Given the description of an element on the screen output the (x, y) to click on. 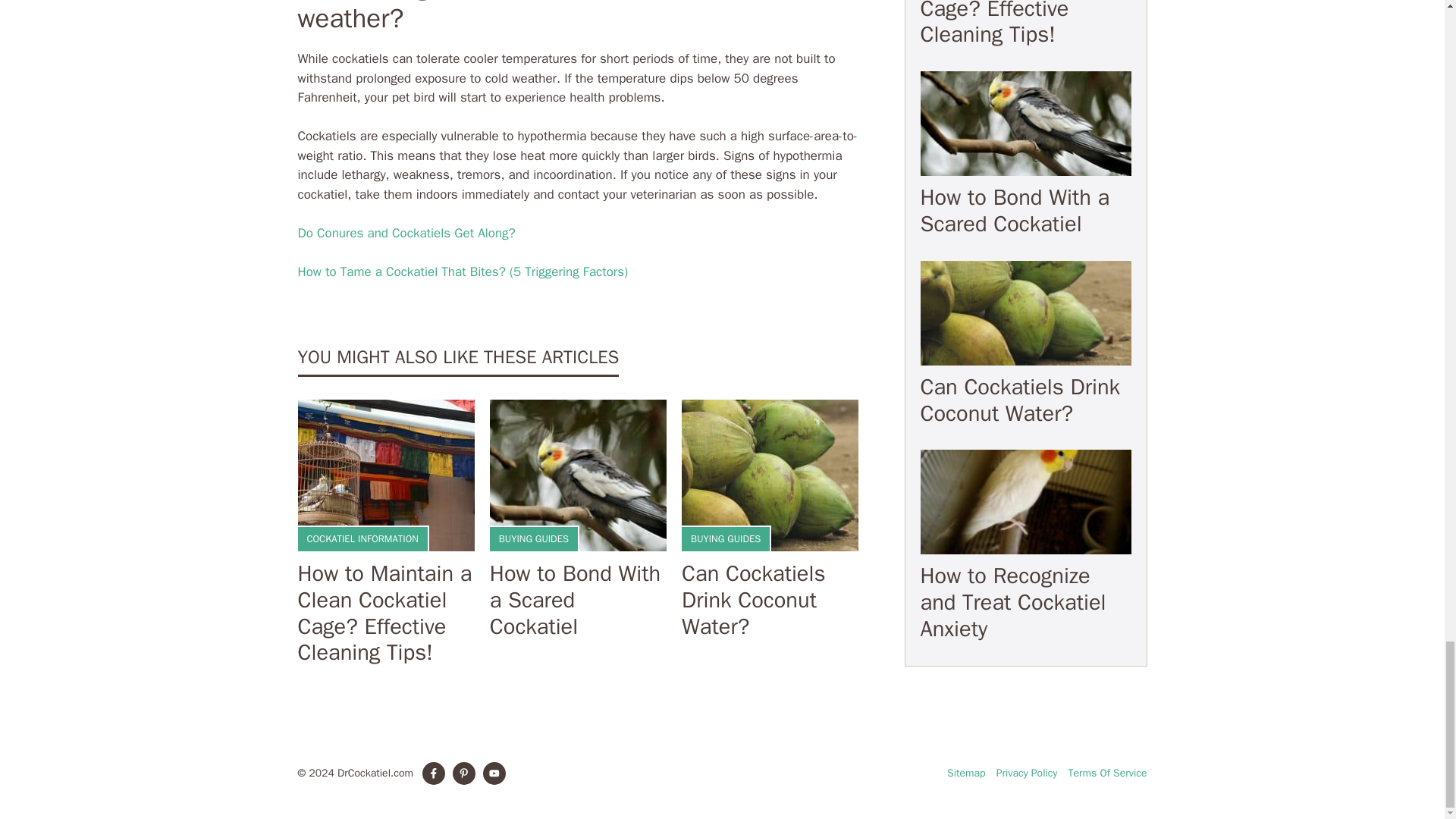
BUYING GUIDES (725, 538)
Do Conures and Cockatiels Get Along? (406, 232)
Can Cockatiels Drink Coconut Water? (753, 599)
How to Bond With a Scared Cockatiel (575, 599)
COCKATIEL INFORMATION (361, 538)
BUYING GUIDES (534, 538)
